Given the description of an element on the screen output the (x, y) to click on. 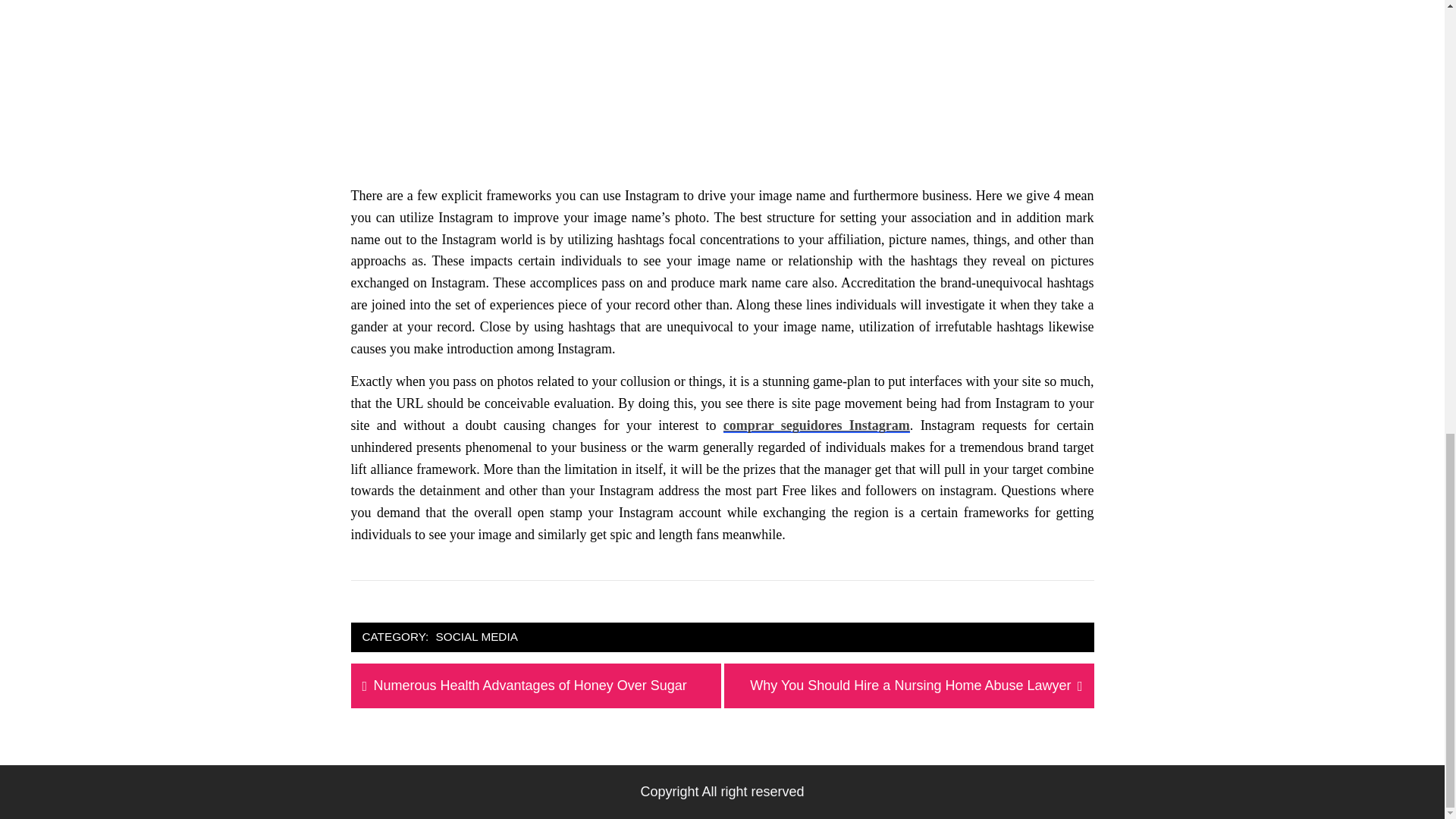
SOCIAL MEDIA (476, 637)
comprar seguidores Instagram (909, 685)
